Given the description of an element on the screen output the (x, y) to click on. 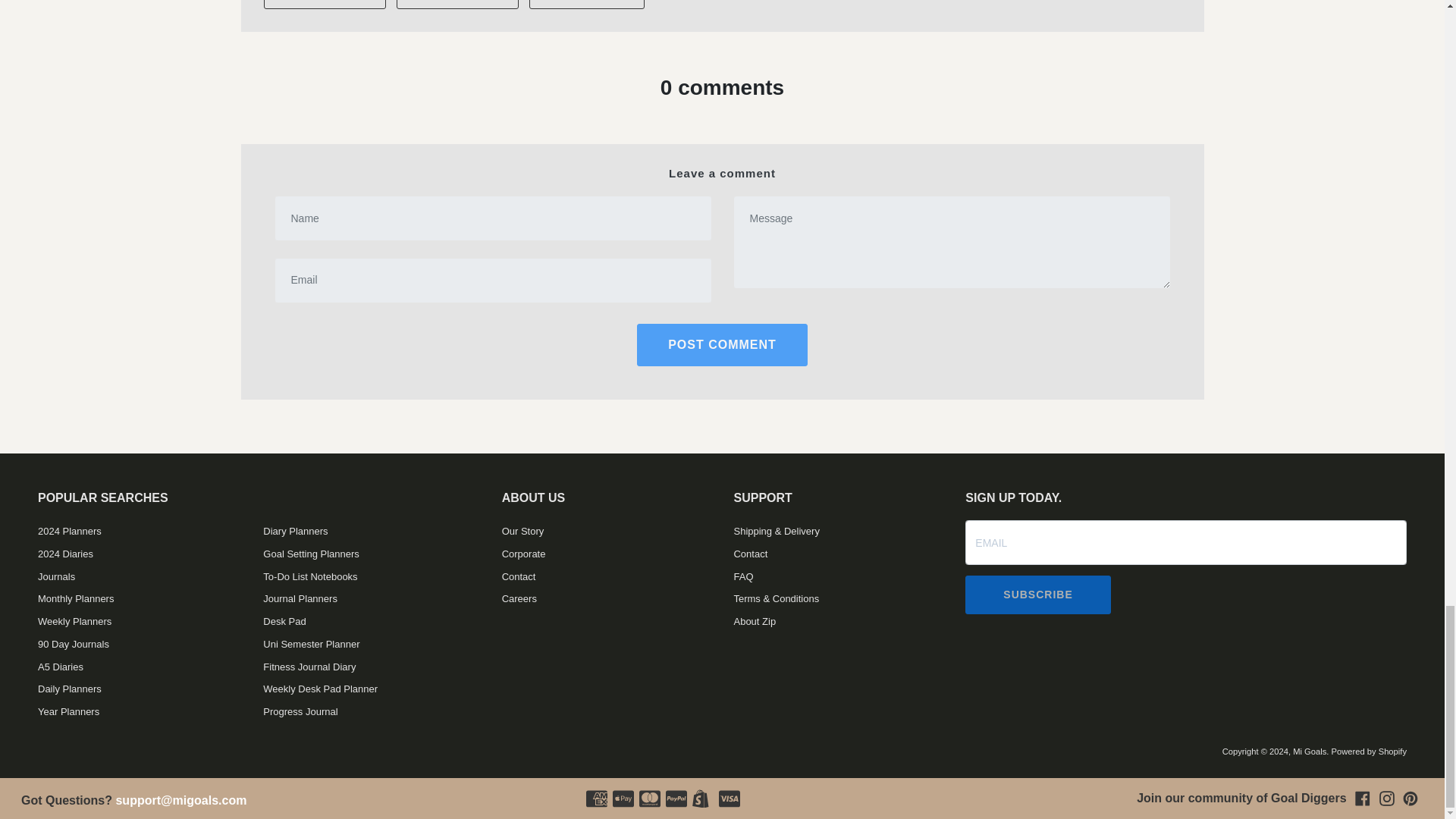
Post comment (722, 344)
